Given the description of an element on the screen output the (x, y) to click on. 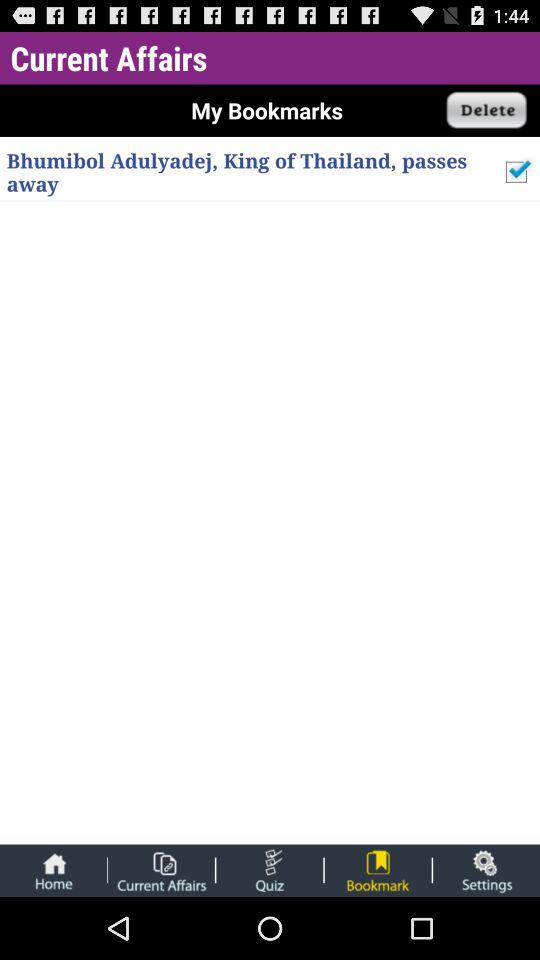
go to current affairs (161, 870)
